Given the description of an element on the screen output the (x, y) to click on. 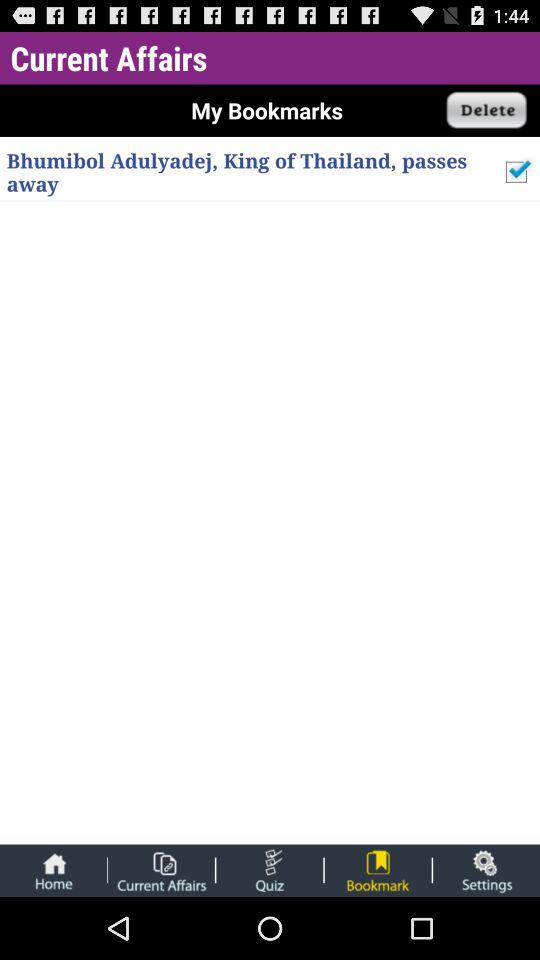
go to current affairs (161, 870)
